Given the description of an element on the screen output the (x, y) to click on. 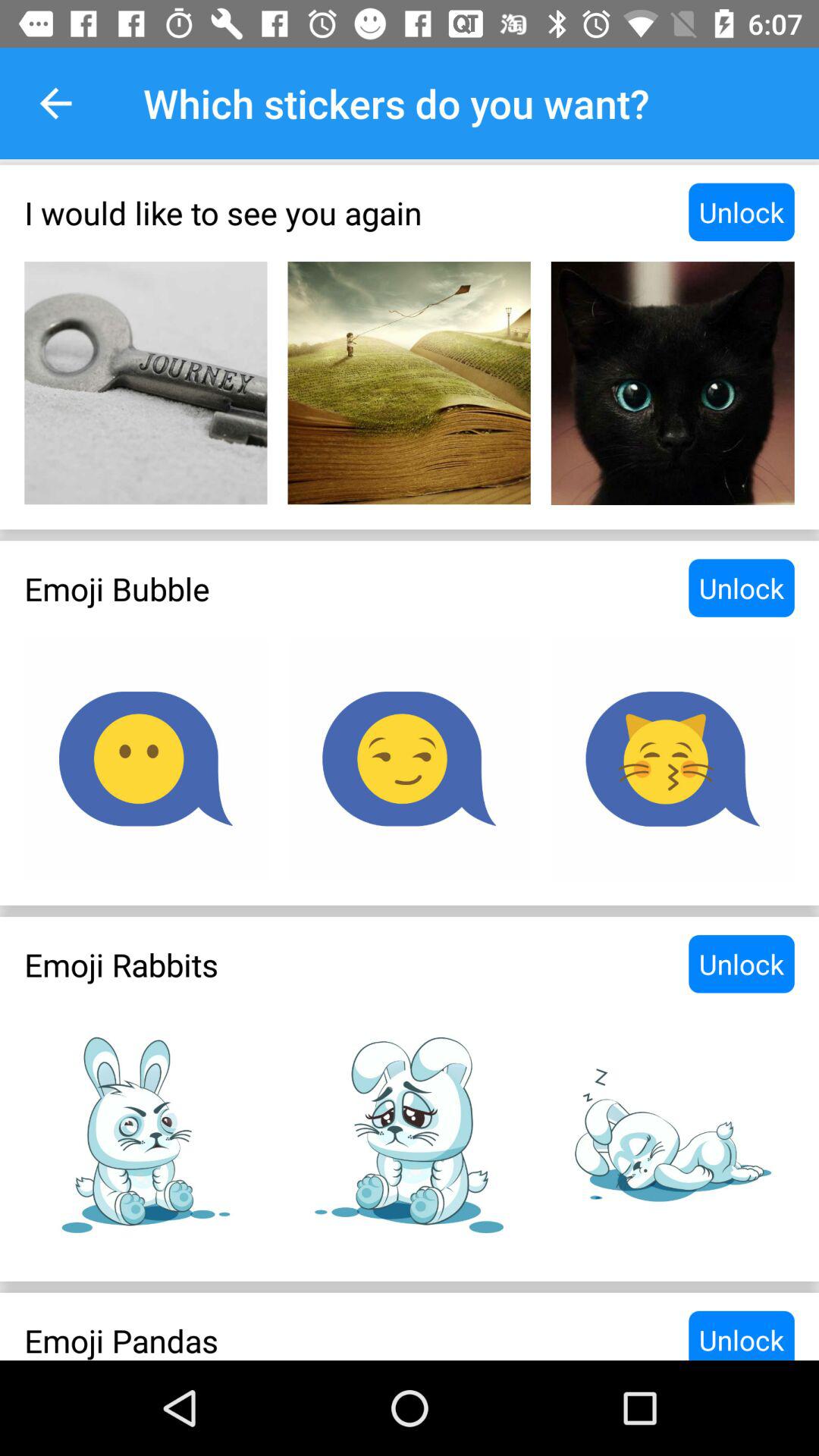
open item above i would like icon (55, 103)
